Given the description of an element on the screen output the (x, y) to click on. 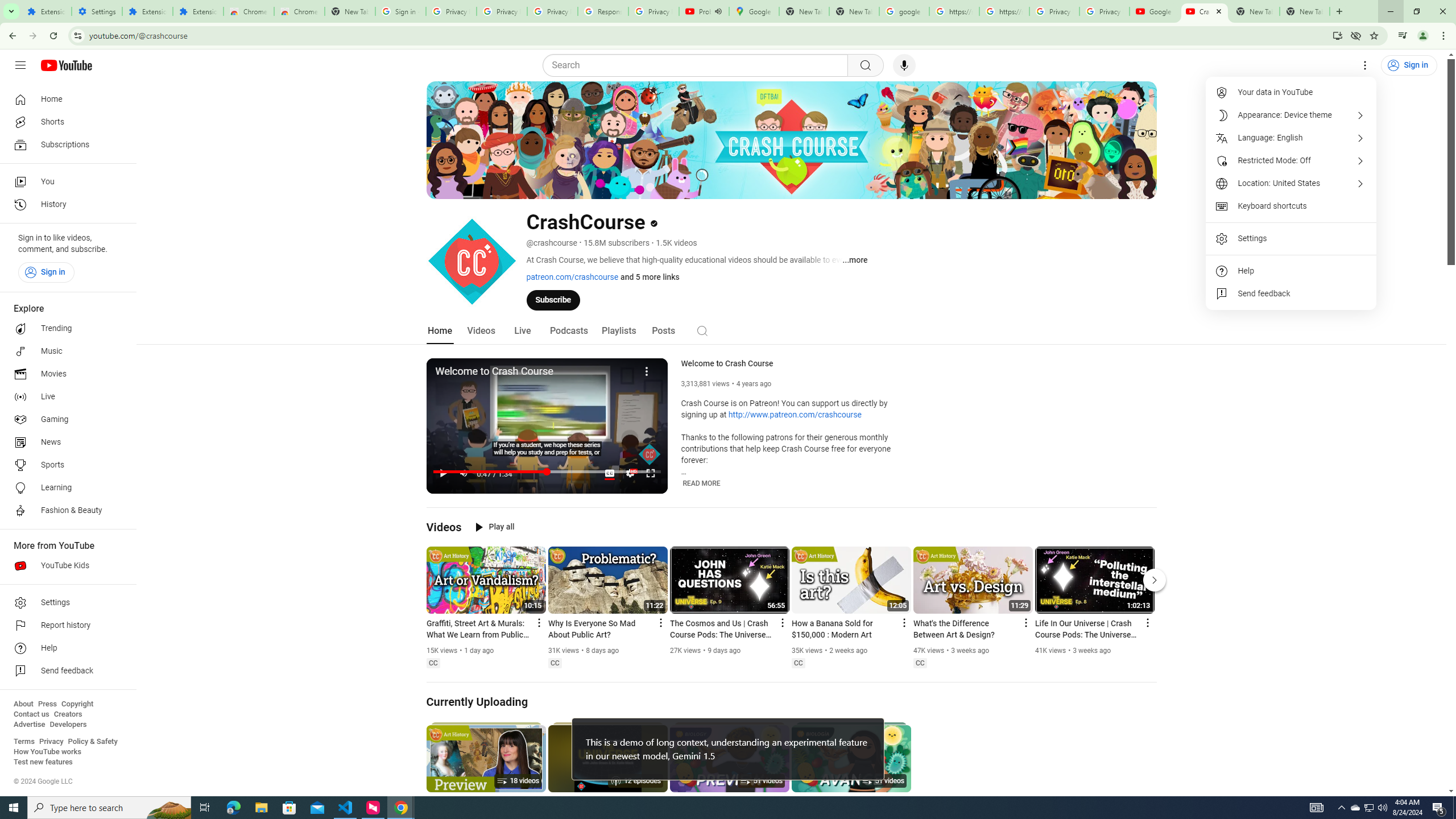
Send feedback (1291, 293)
Live (521, 330)
Mute tab (717, 10)
Developers (68, 724)
https://scholar.google.com/ (1004, 11)
Playlists (618, 330)
Trending (64, 328)
CrashCourse - YouTube (1204, 11)
History (64, 204)
Google Maps (753, 11)
